Given the description of an element on the screen output the (x, y) to click on. 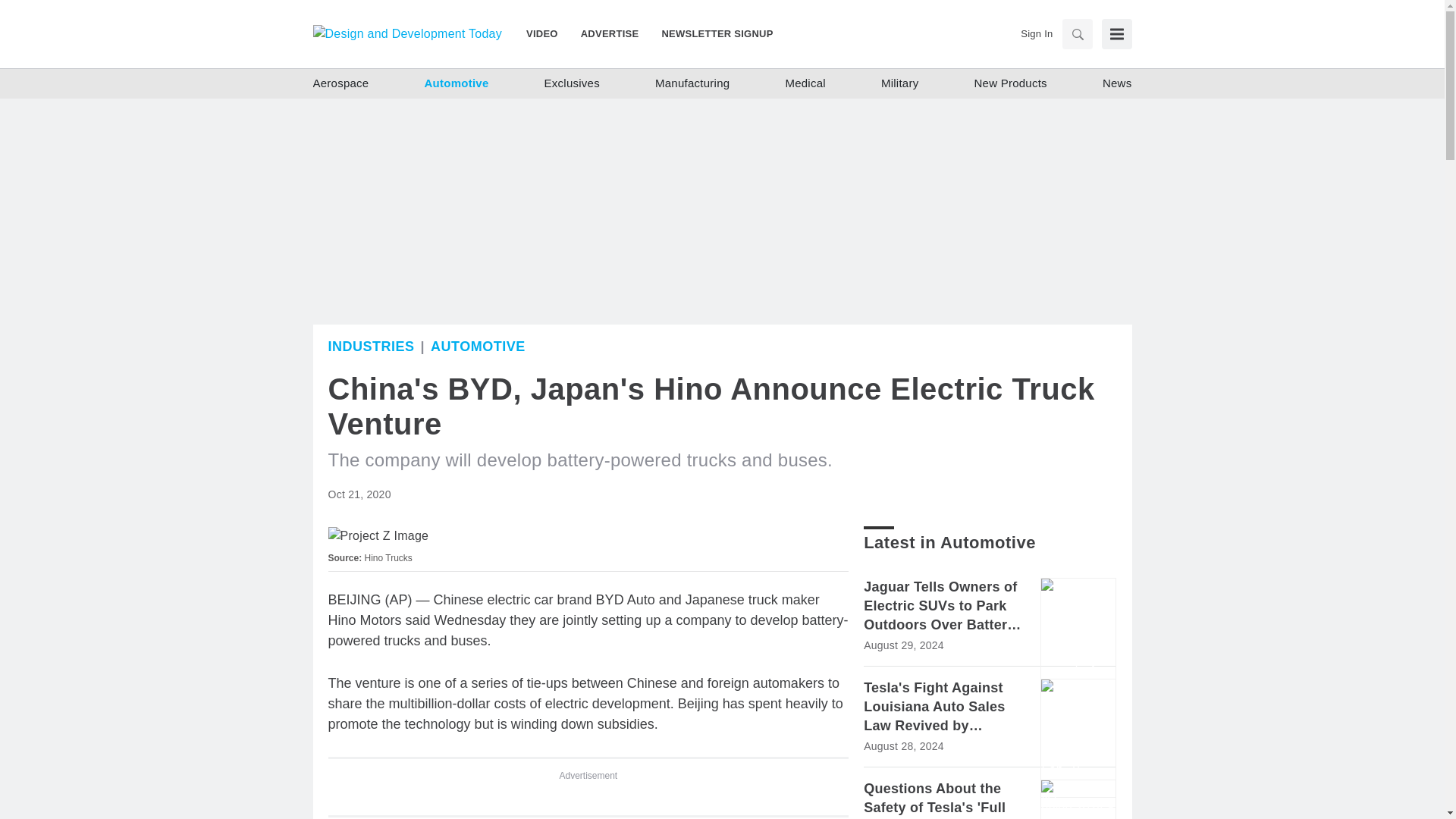
Sign In (1036, 33)
News (1117, 83)
Medical (804, 83)
ADVERTISE (609, 33)
Manufacturing (692, 83)
New Products (1010, 83)
VIDEO (547, 33)
Aerospace (340, 83)
Exclusives (571, 83)
NEWSLETTER SIGNUP (711, 33)
